Given the description of an element on the screen output the (x, y) to click on. 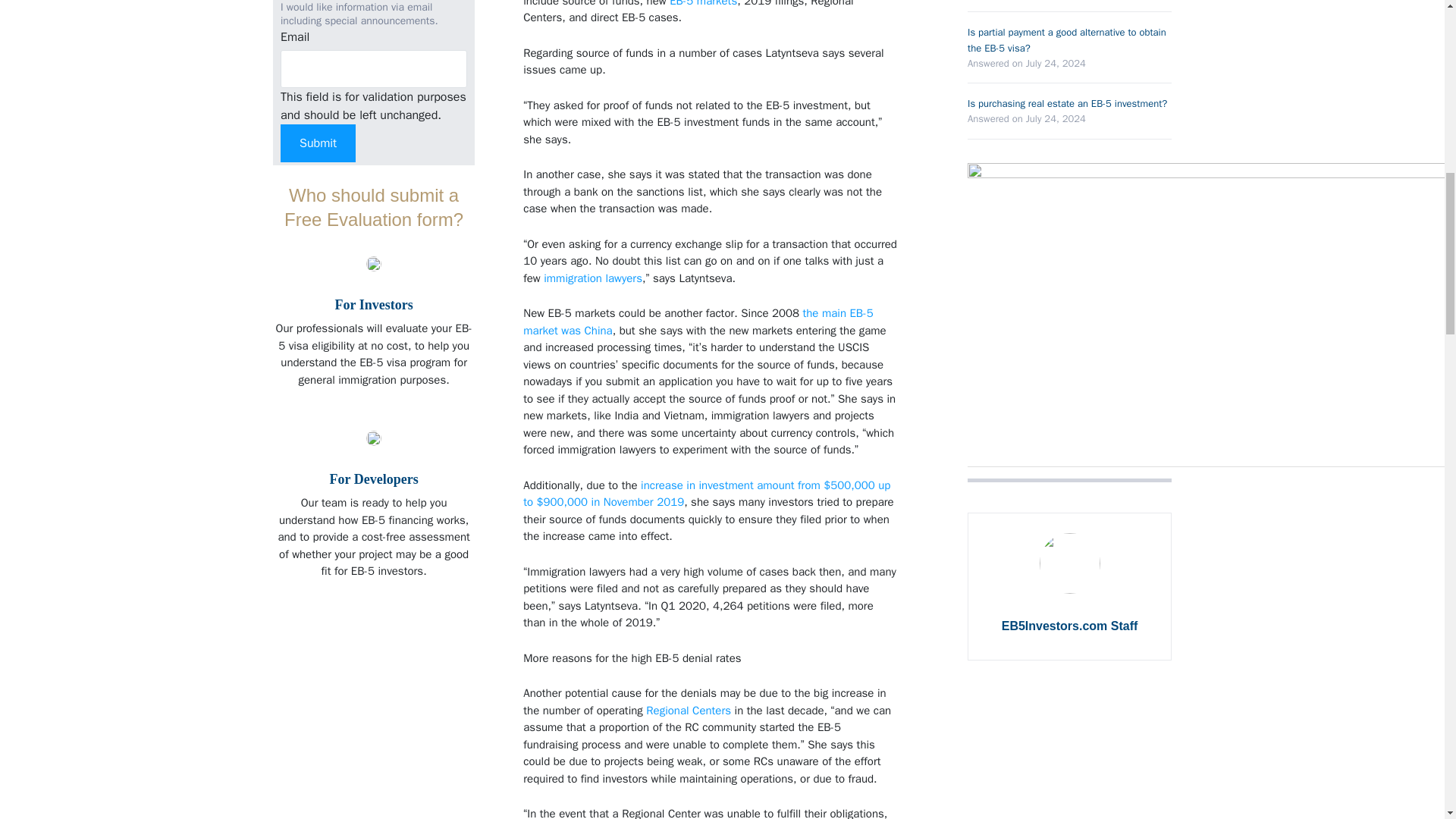
Submit (318, 143)
